Given the description of an element on the screen output the (x, y) to click on. 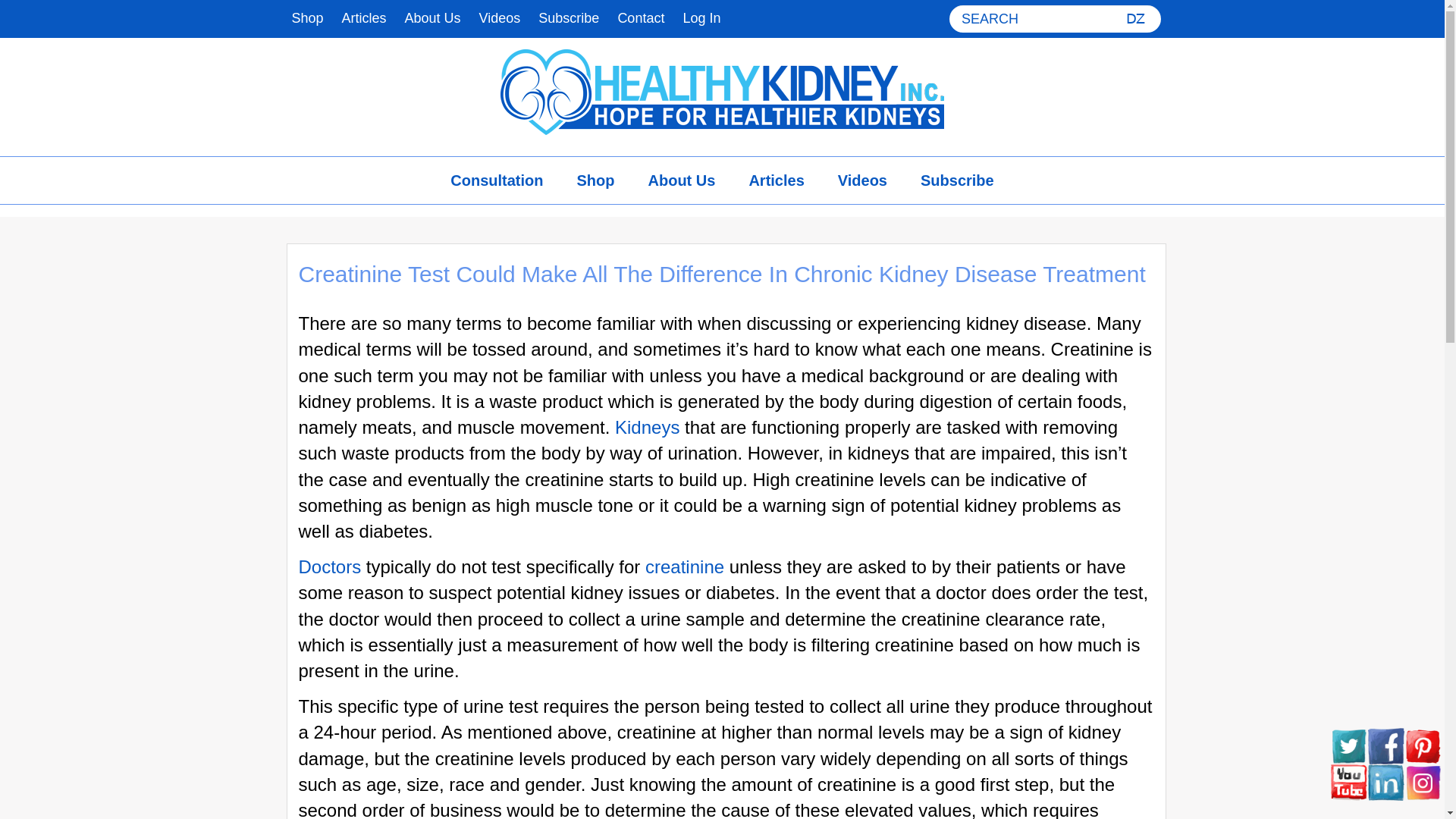
Kidneys (646, 426)
Visit Us On Youtube (1348, 781)
Shop (595, 180)
About Us (681, 180)
Visit Us On Twitter (1348, 744)
Log In (700, 18)
Videos (499, 18)
Contact (640, 18)
Doctors (329, 566)
Articles (364, 18)
